Given the description of an element on the screen output the (x, y) to click on. 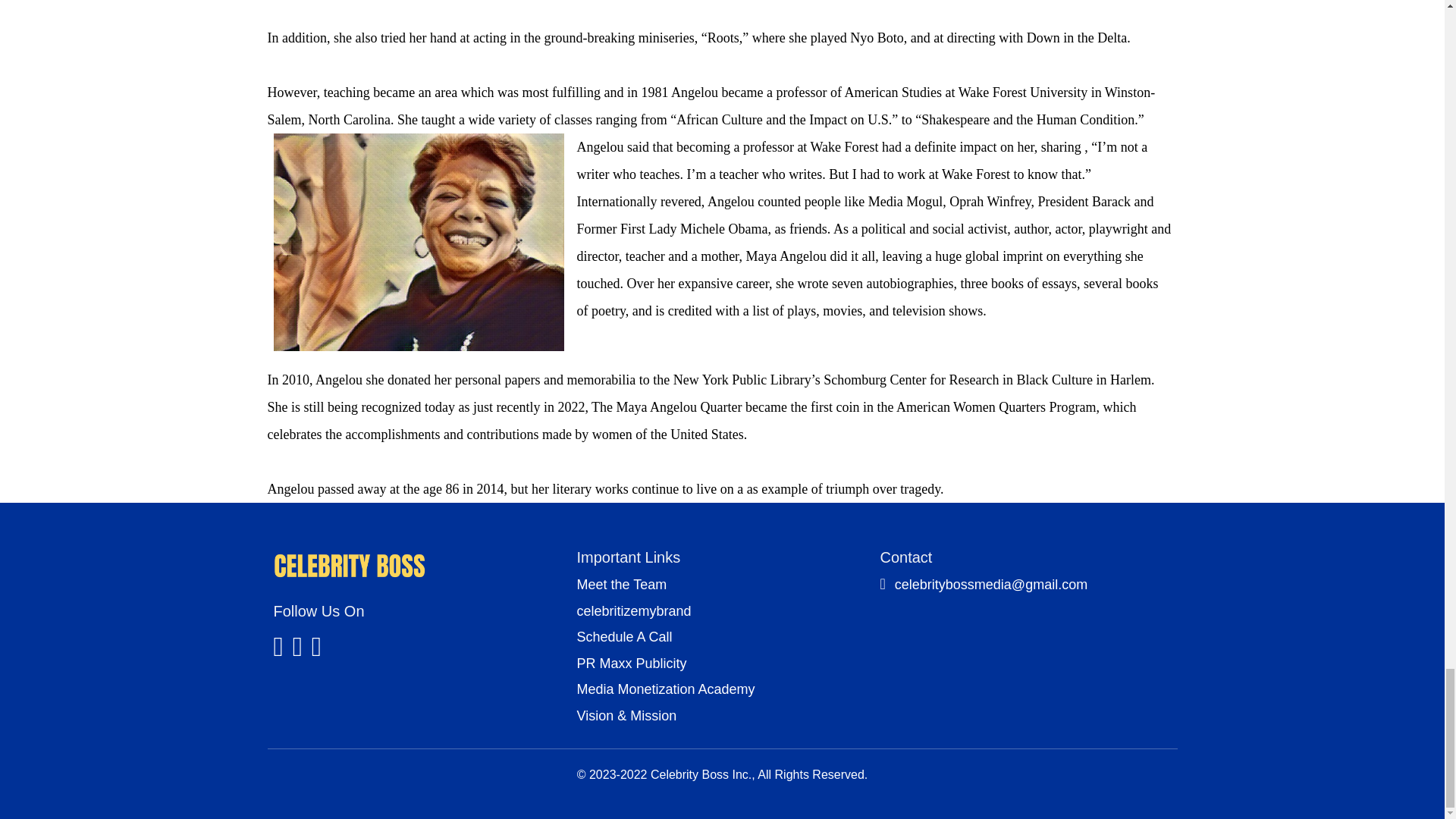
Meet the Team (621, 584)
Schedule A Call (623, 637)
celebritizemybrand (633, 610)
PR Maxx Publicity (630, 663)
